Given the description of an element on the screen output the (x, y) to click on. 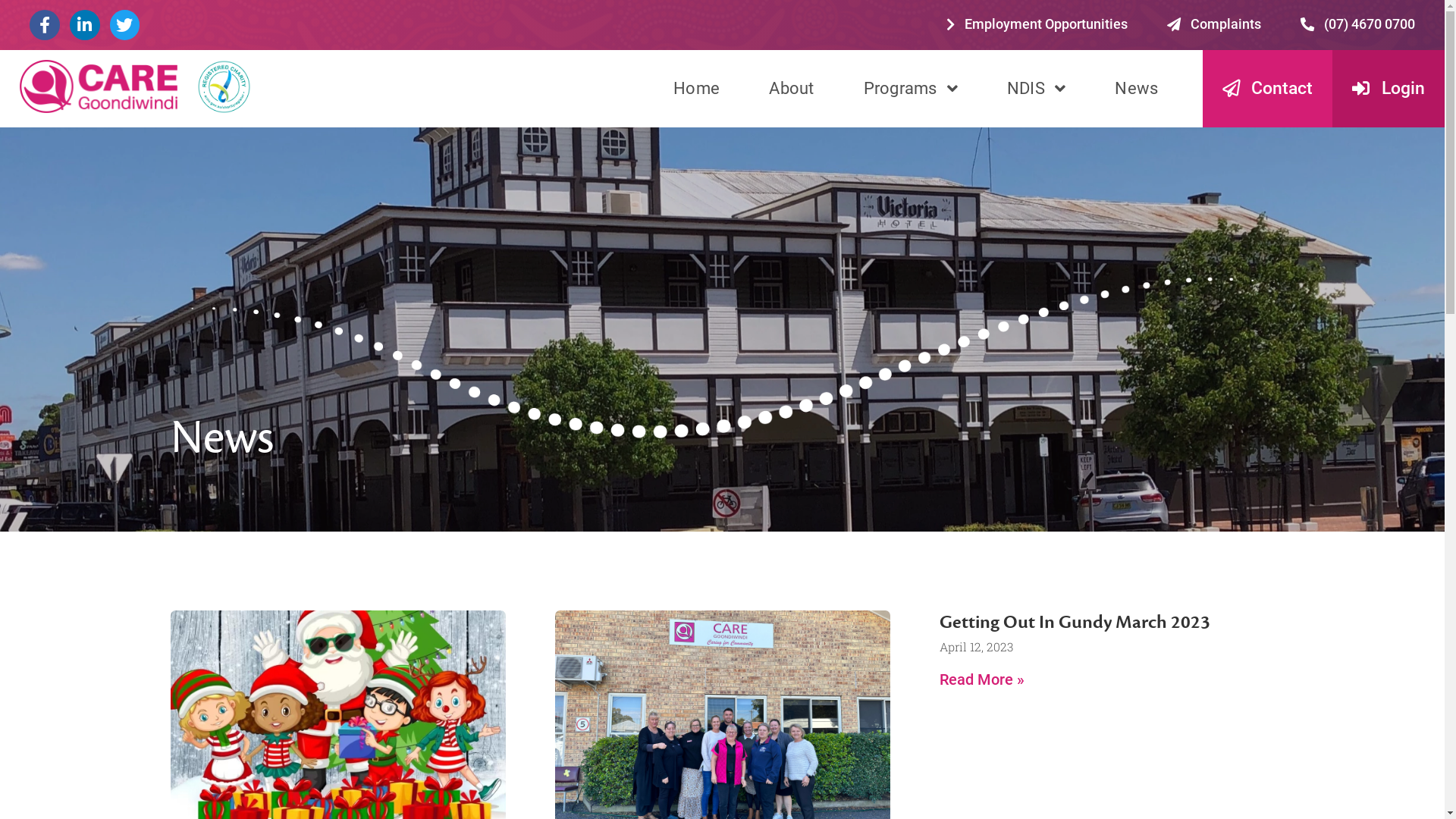
About Element type: text (608, 67)
Twitter Element type: text (95, 19)
NDIS Element type: text (797, 67)
Contact Element type: text (975, 68)
Getting Out In Gundy March 2023 Element type: text (826, 478)
Facebook-f Element type: text (34, 19)
News Element type: text (874, 67)
Linkedin-in Element type: text (65, 19)
Complaints Element type: text (933, 19)
Employment Opportunities Element type: text (797, 19)
Mental Health Series of Events Element type: text (517, 664)
Home Element type: text (535, 67)
Programs Element type: text (700, 67)
(07) 4670 0700 Element type: text (1044, 19)
Login Element type: text (1068, 68)
